Given the description of an element on the screen output the (x, y) to click on. 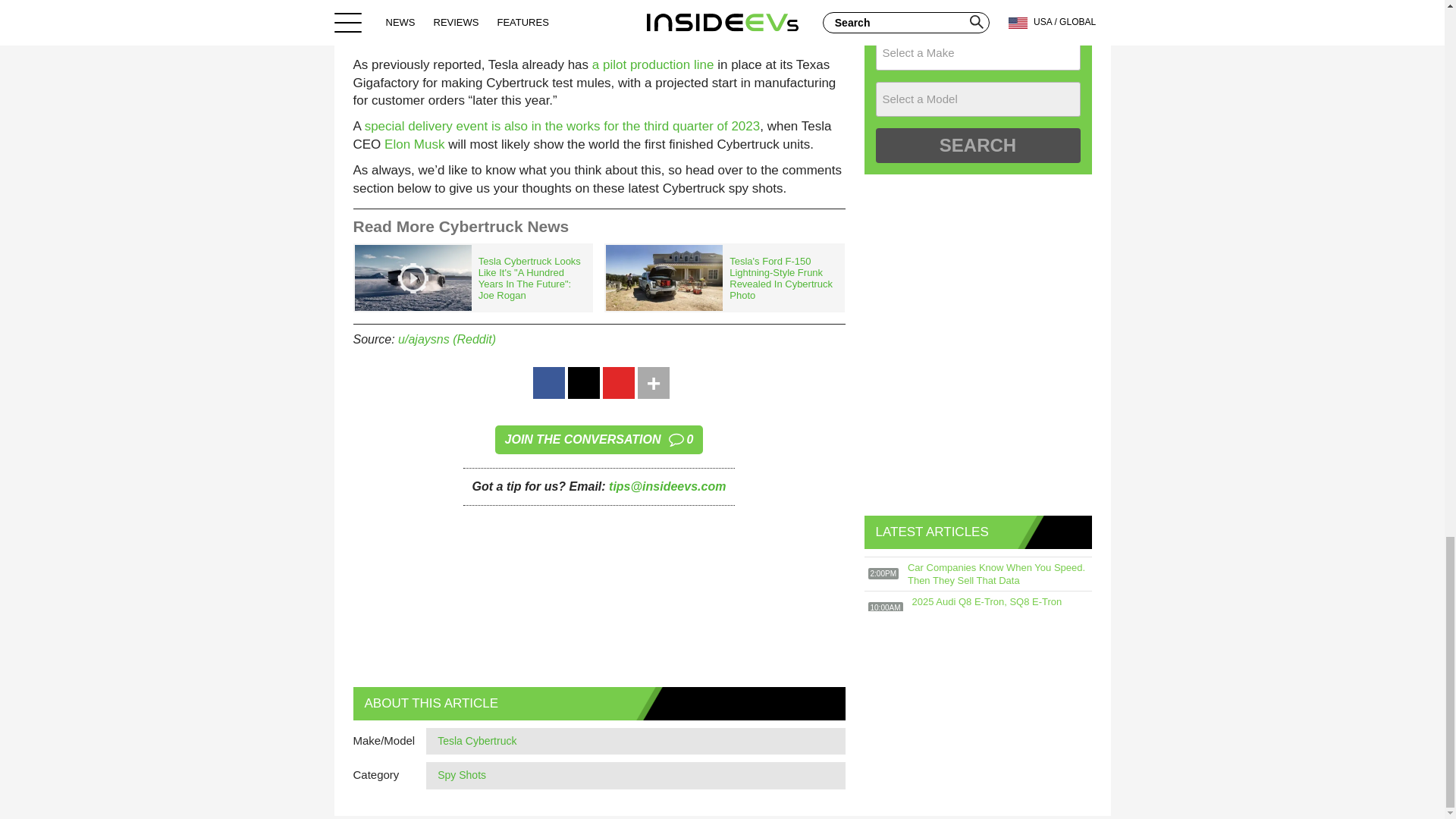
Search (977, 144)
Elon Musk (414, 144)
a pilot production line (653, 64)
